Given the description of an element on the screen output the (x, y) to click on. 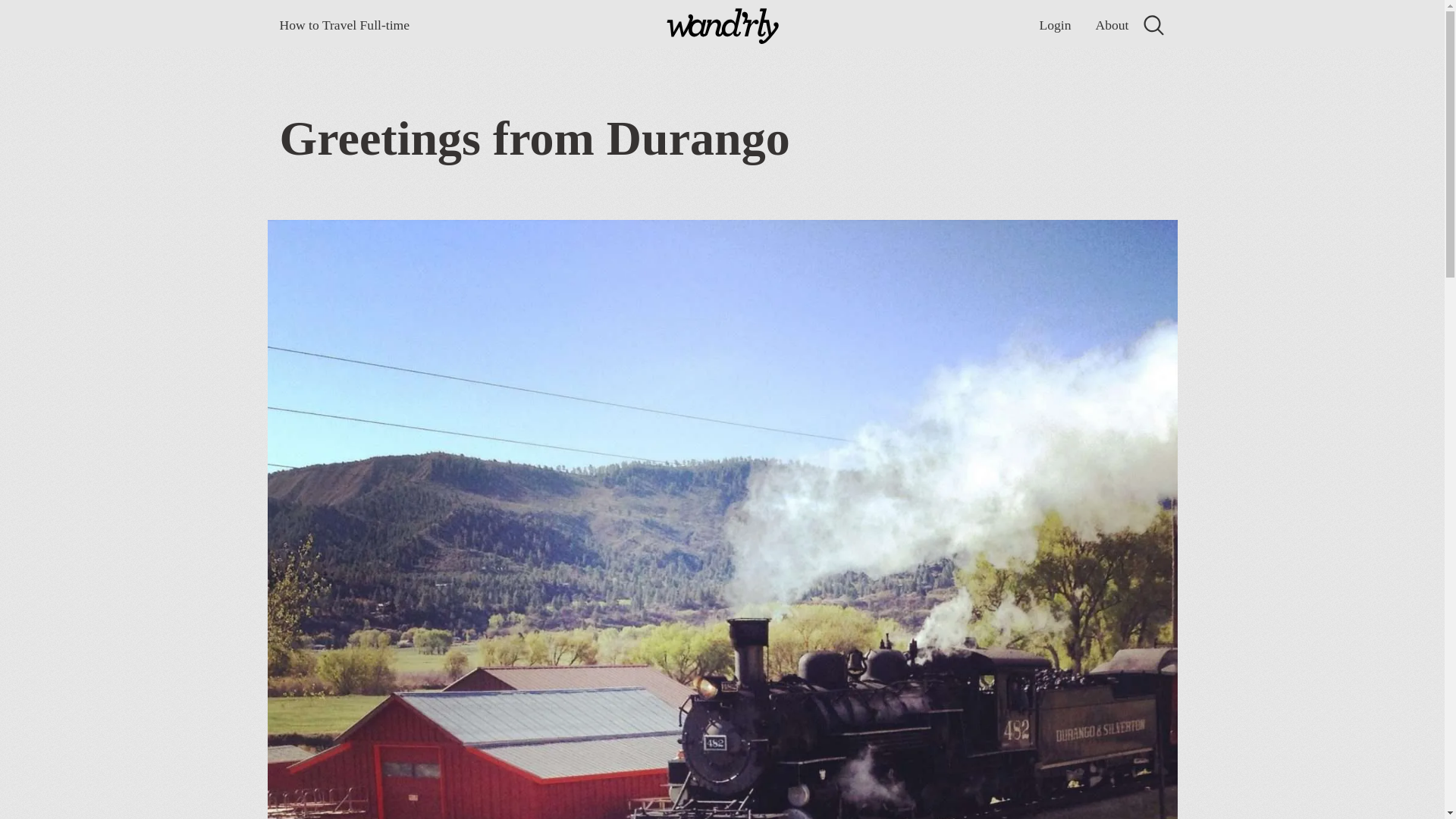
Login (1054, 25)
Return to home page (721, 28)
About (1112, 25)
How to Travel Full-time (344, 25)
Click this to open the search form (1152, 25)
